Given the description of an element on the screen output the (x, y) to click on. 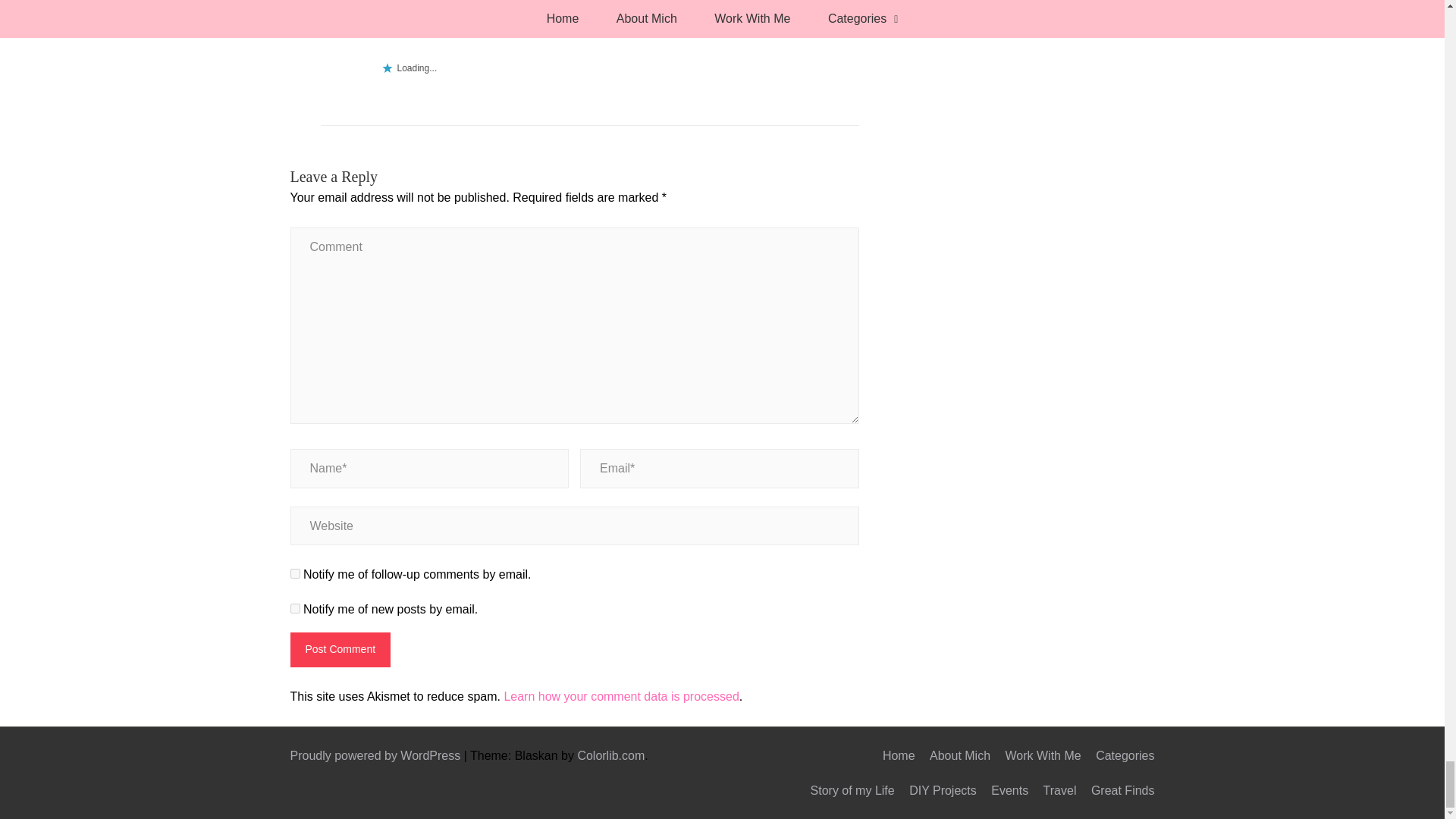
subscribe (294, 573)
Post Comment (339, 649)
subscribe (294, 608)
